Given the description of an element on the screen output the (x, y) to click on. 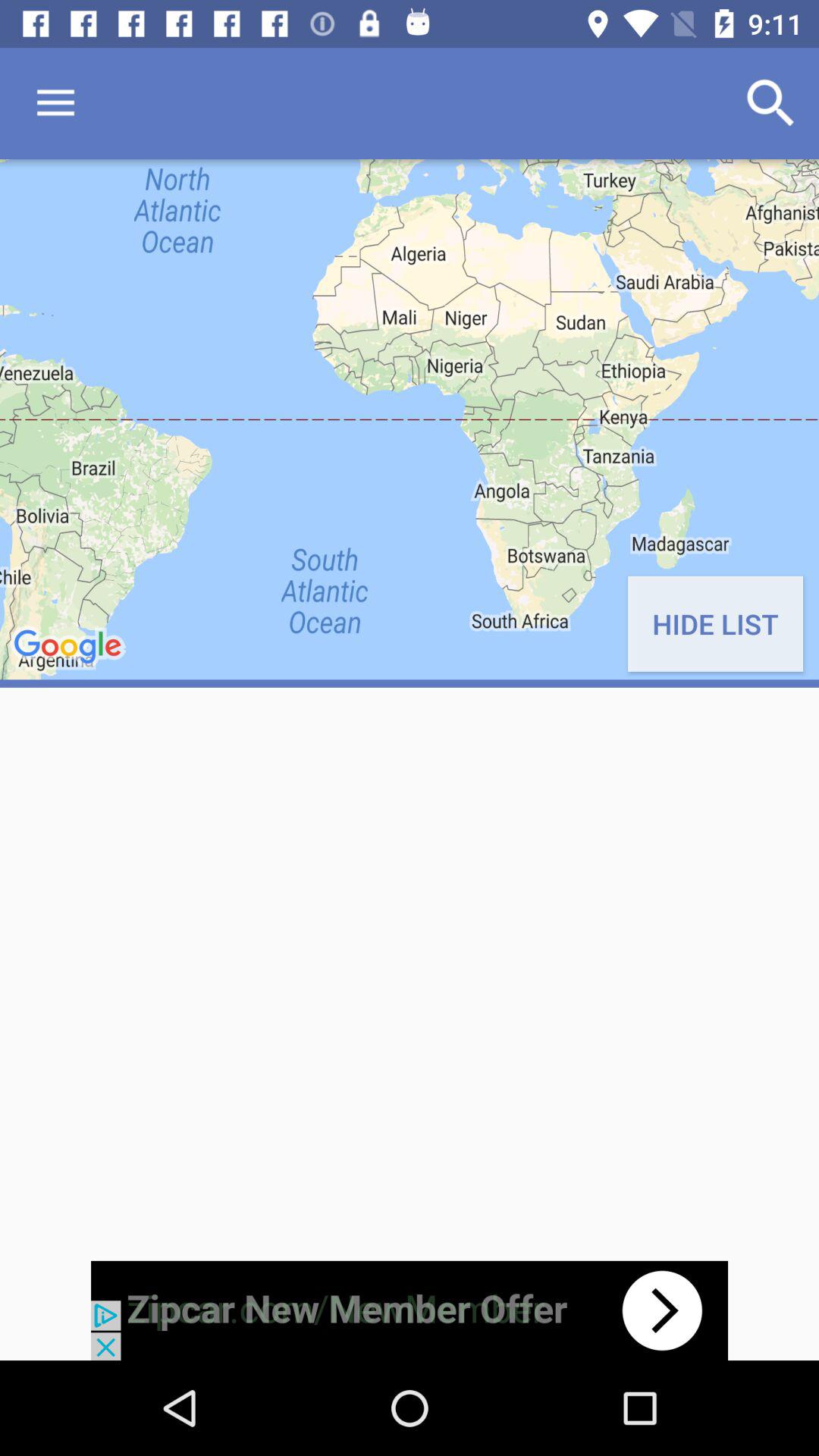
tap the hide list on the right (715, 623)
